Given the description of an element on the screen output the (x, y) to click on. 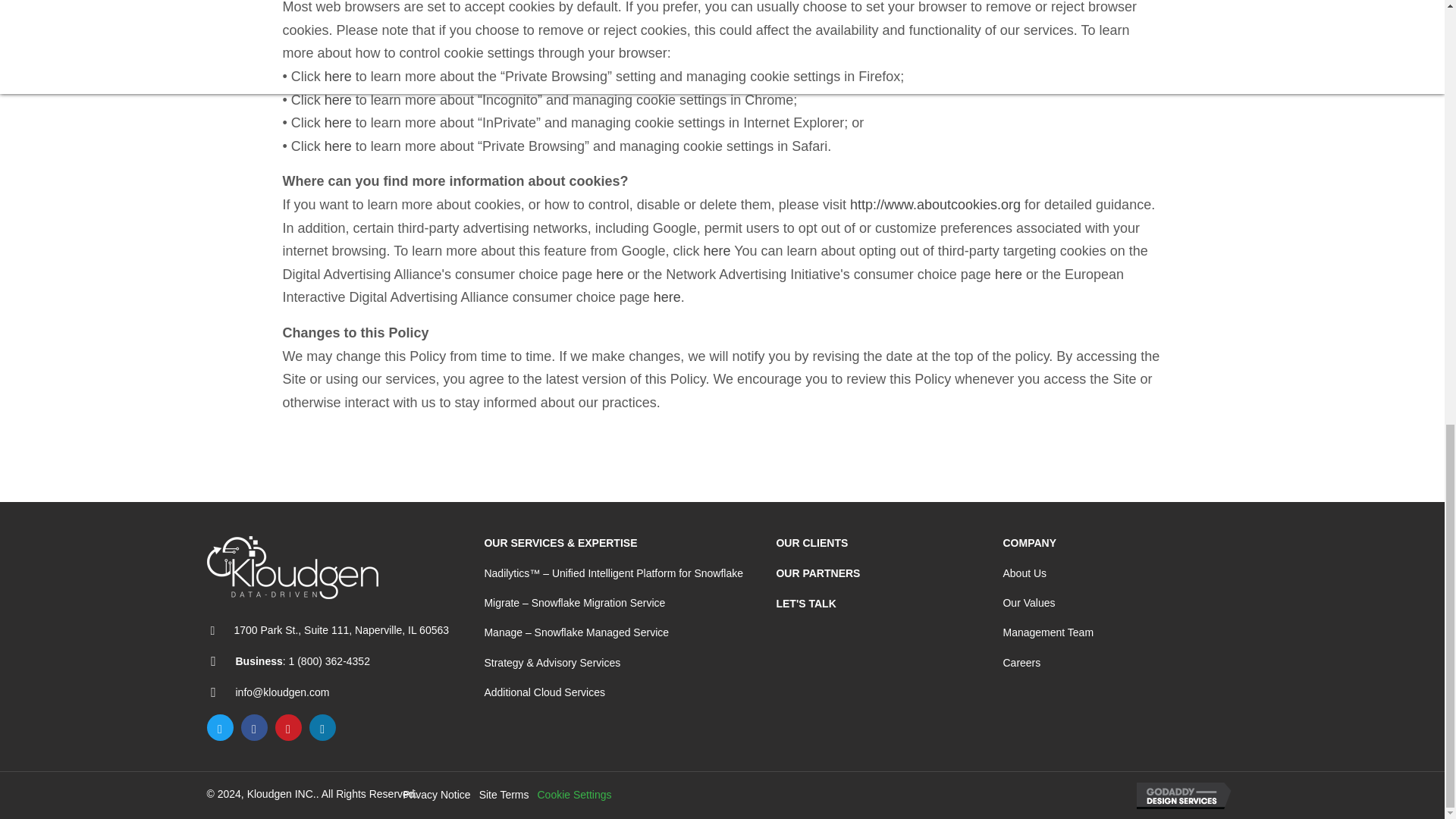
Youtube (288, 727)
Twitter (219, 727)
Company (1030, 542)
Additional Cloud Services (544, 692)
here (338, 76)
here (338, 145)
here (1008, 273)
Kloudgen INC. (291, 567)
here (609, 273)
Our Clients (811, 542)
